Given the description of an element on the screen output the (x, y) to click on. 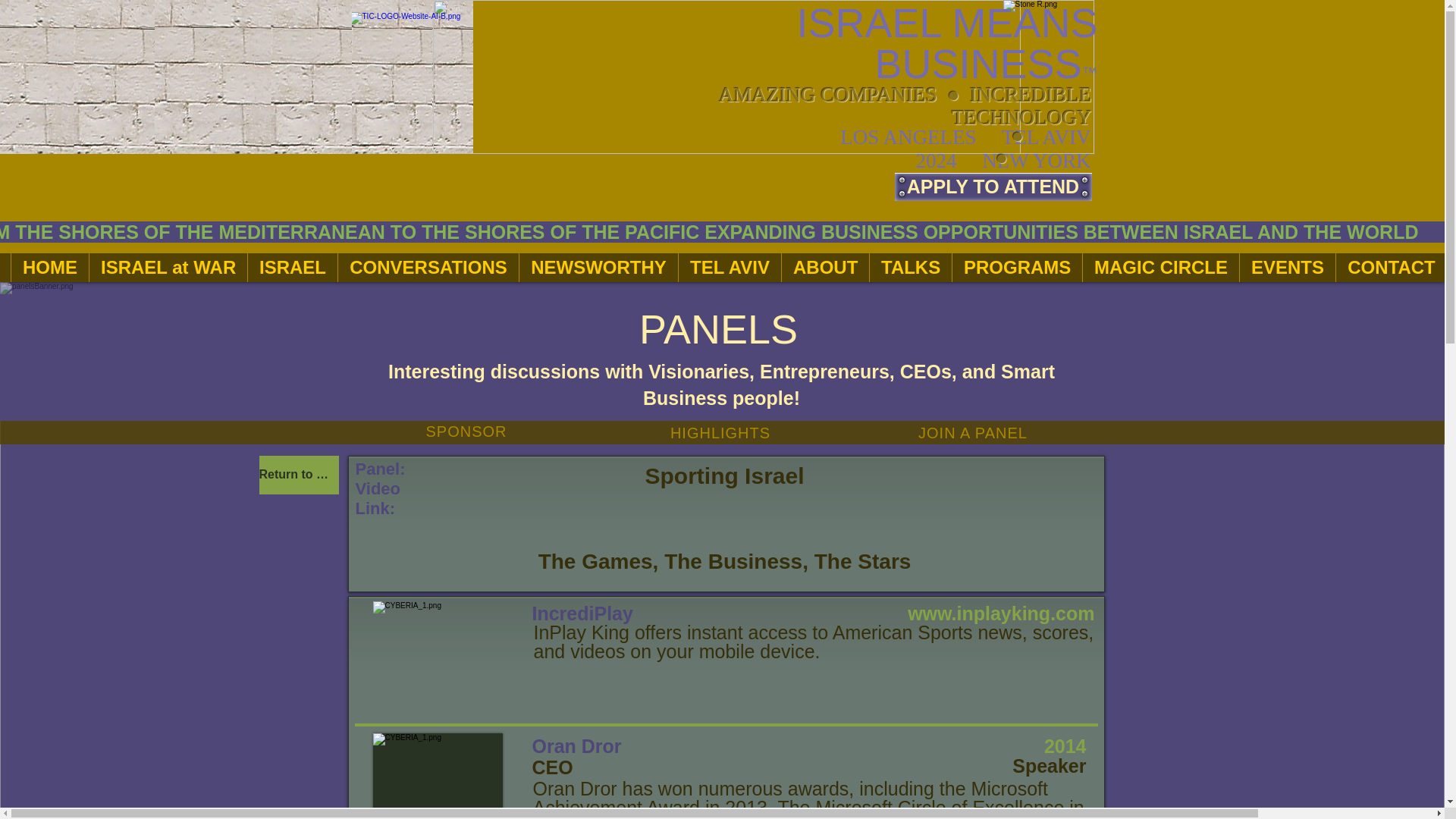
JOIN A PANEL (973, 433)
TEL AVIV (729, 267)
ABOUT (824, 267)
TALKS (910, 267)
PROGRAMS (1016, 267)
HOME (49, 267)
Return to Panels (299, 474)
Oran Dror.png (437, 776)
ISRAEL (292, 267)
HIGHLIGHTS (720, 433)
Incrediplay.png (437, 663)
CONVERSATIONS (427, 267)
MAGIC CIRCLE (1160, 267)
CONTACT (1391, 267)
NEWSWORTHY (598, 267)
